Given the description of an element on the screen output the (x, y) to click on. 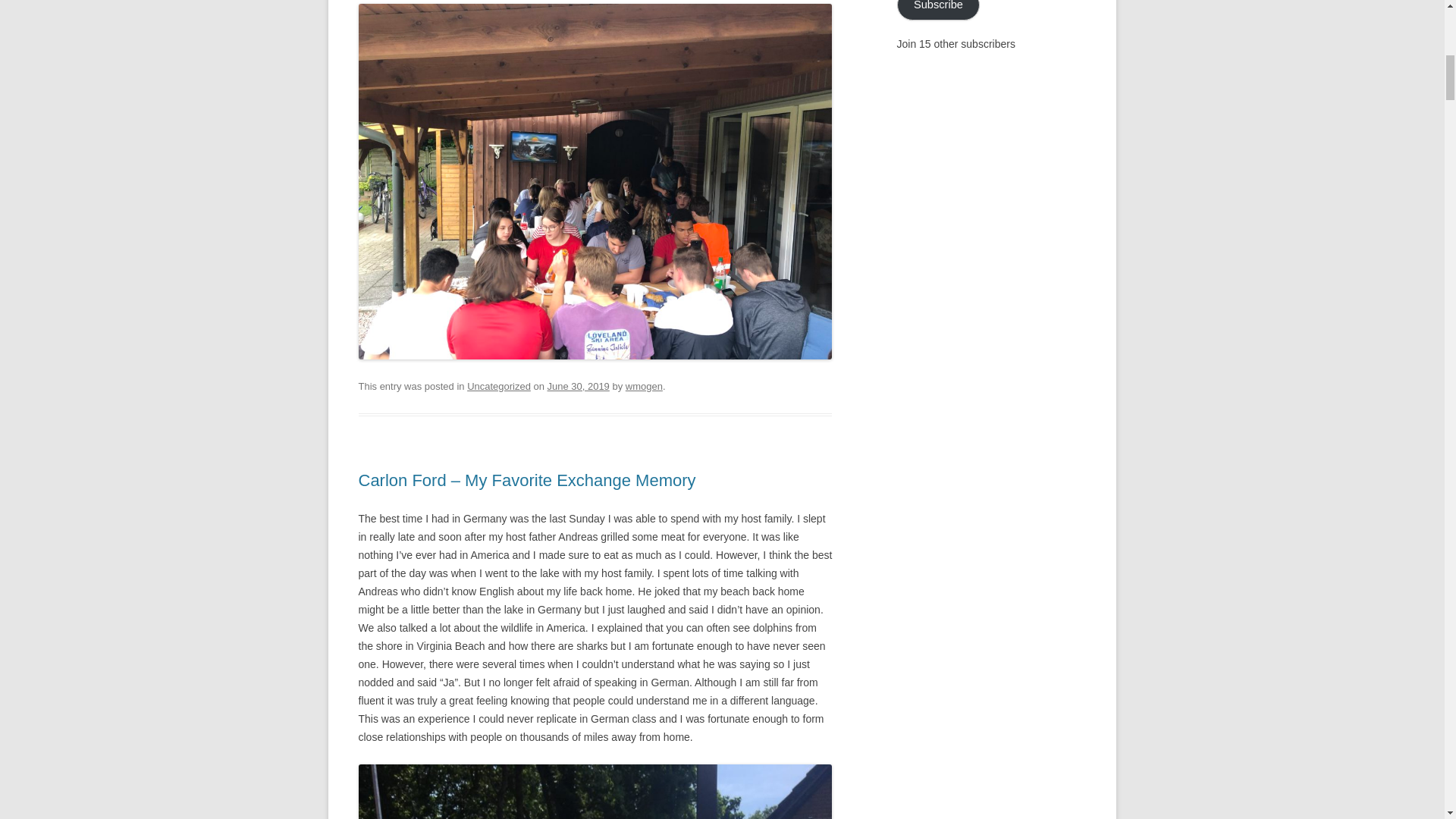
June 30, 2019 (578, 386)
wmogen (644, 386)
View all posts by wmogen (644, 386)
11:24 pm (578, 386)
Uncategorized (499, 386)
